Given the description of an element on the screen output the (x, y) to click on. 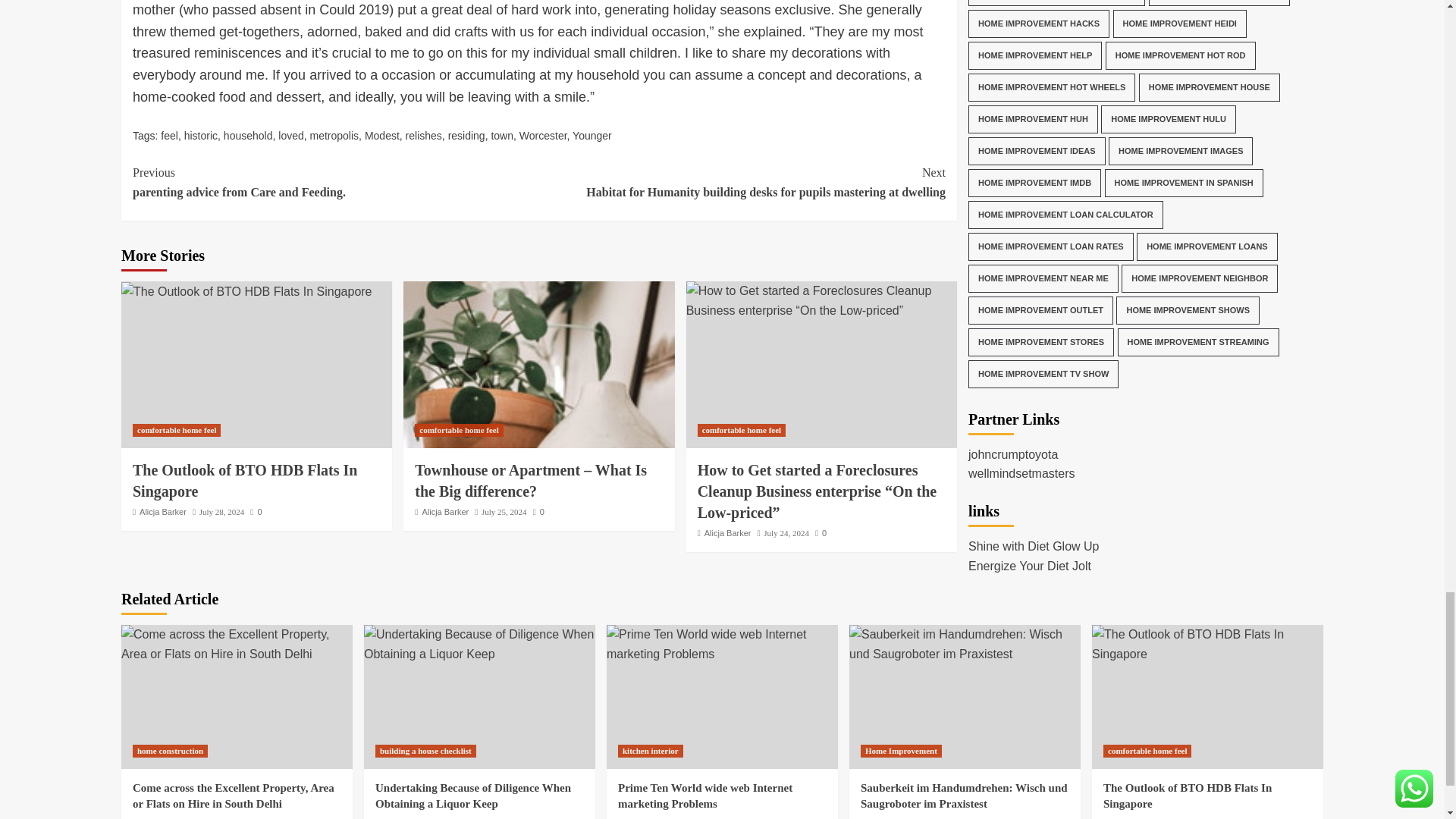
comfortable home feel (176, 430)
feel (168, 135)
metropolis (334, 135)
relishes (424, 135)
town (335, 181)
Modest (501, 135)
loved (381, 135)
Worcester (290, 135)
Prime Ten World wide web Internet marketing Problems (543, 135)
household (722, 643)
The Outlook of BTO HDB Flats In Singapore (248, 135)
